Given the description of an element on the screen output the (x, y) to click on. 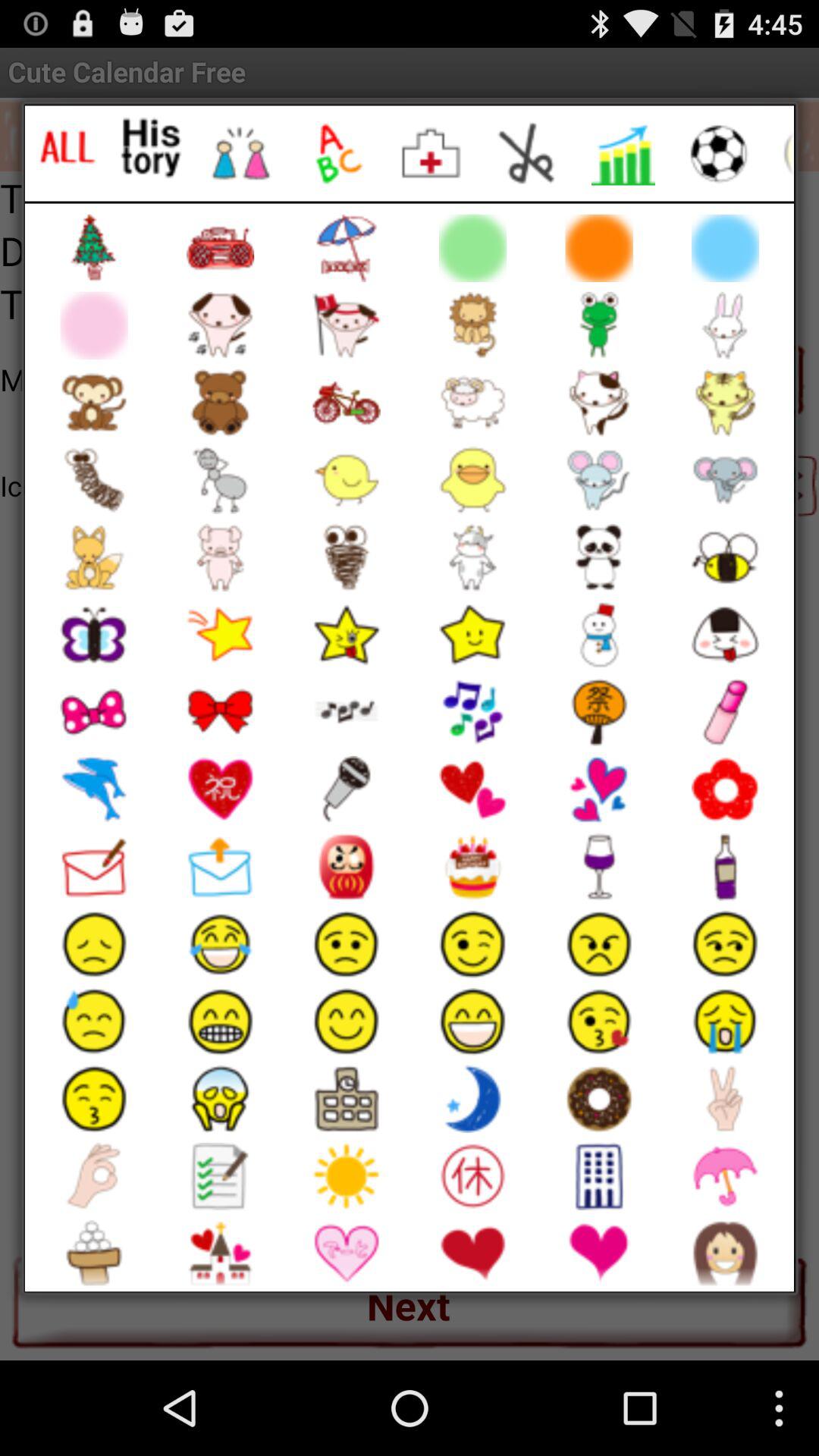
choose symbol (432, 153)
